Given the description of an element on the screen output the (x, y) to click on. 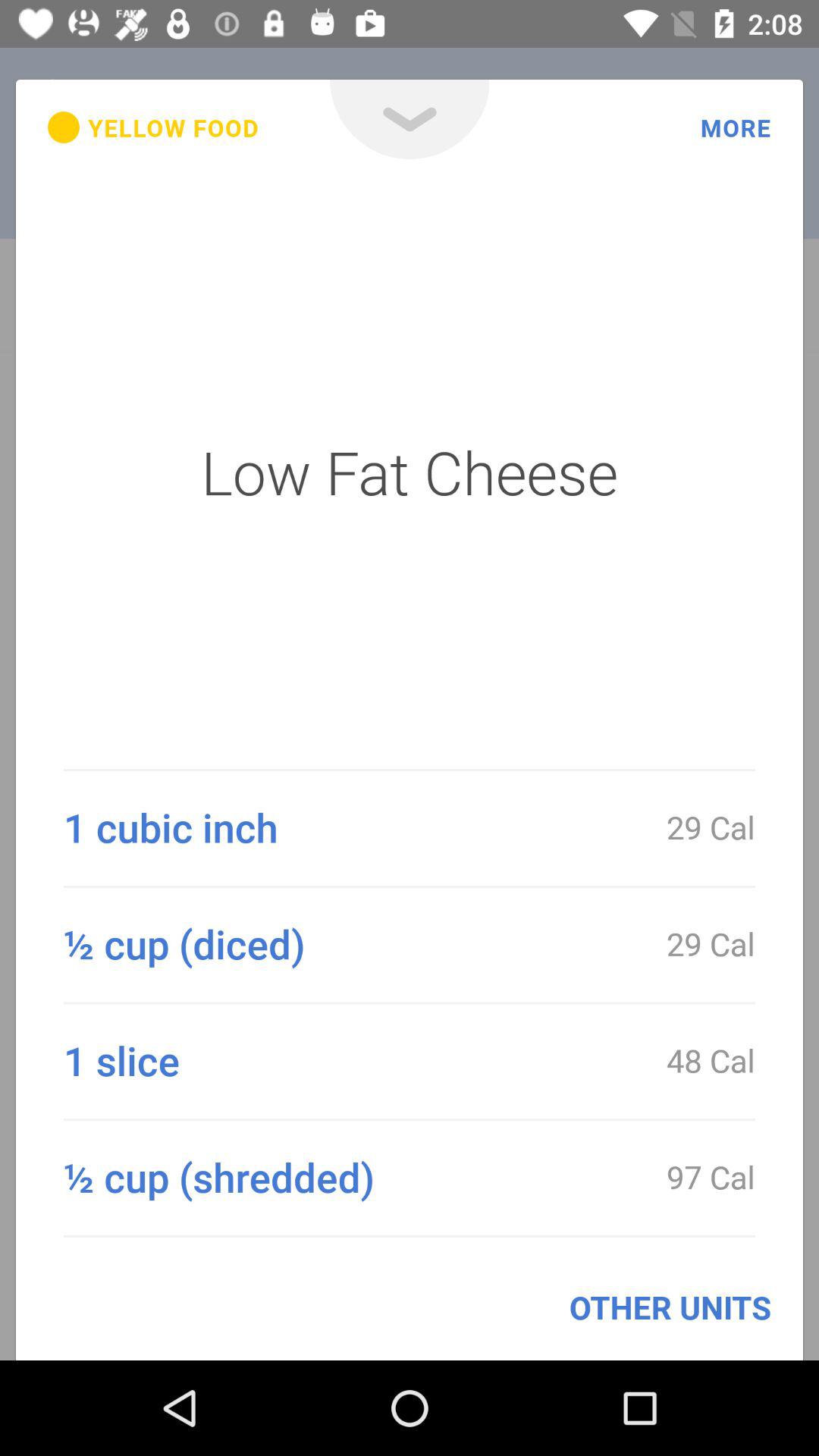
minimise window (409, 119)
